Given the description of an element on the screen output the (x, y) to click on. 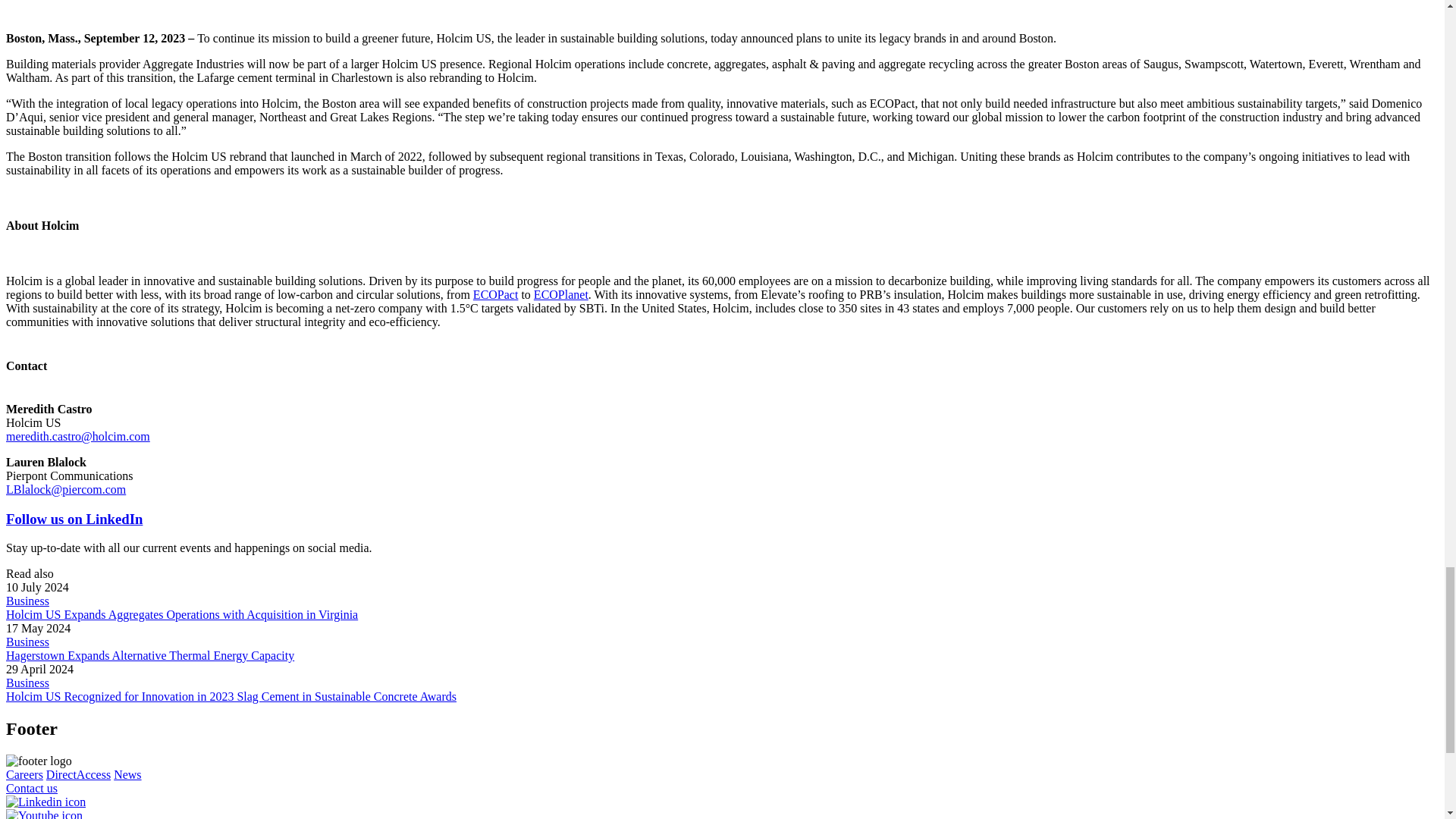
ECOPlanet Cements Archive (561, 294)
ECOPact Low-Carbon (495, 294)
